Given the description of an element on the screen output the (x, y) to click on. 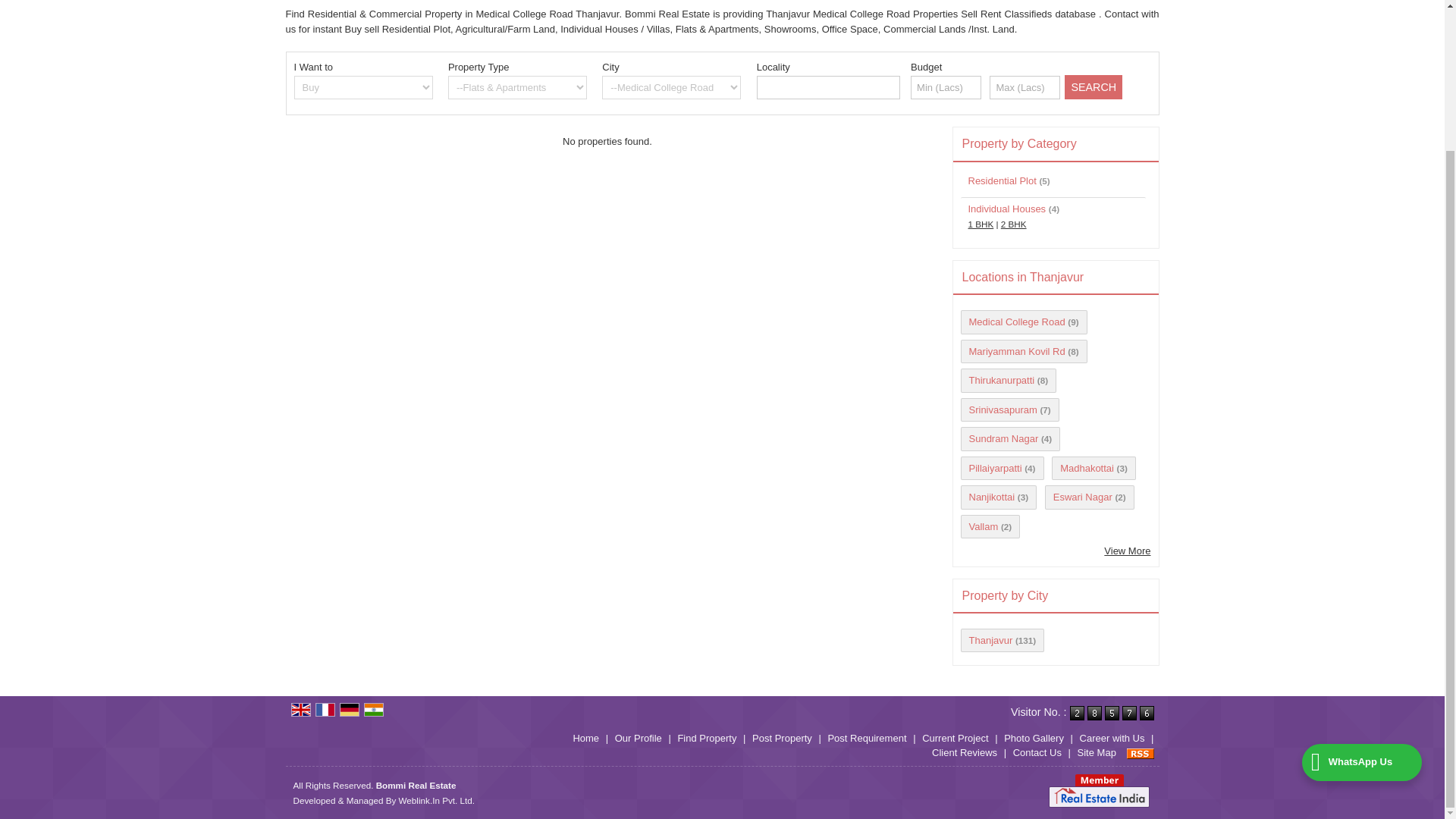
SEARCH (1093, 87)
